Given the description of an element on the screen output the (x, y) to click on. 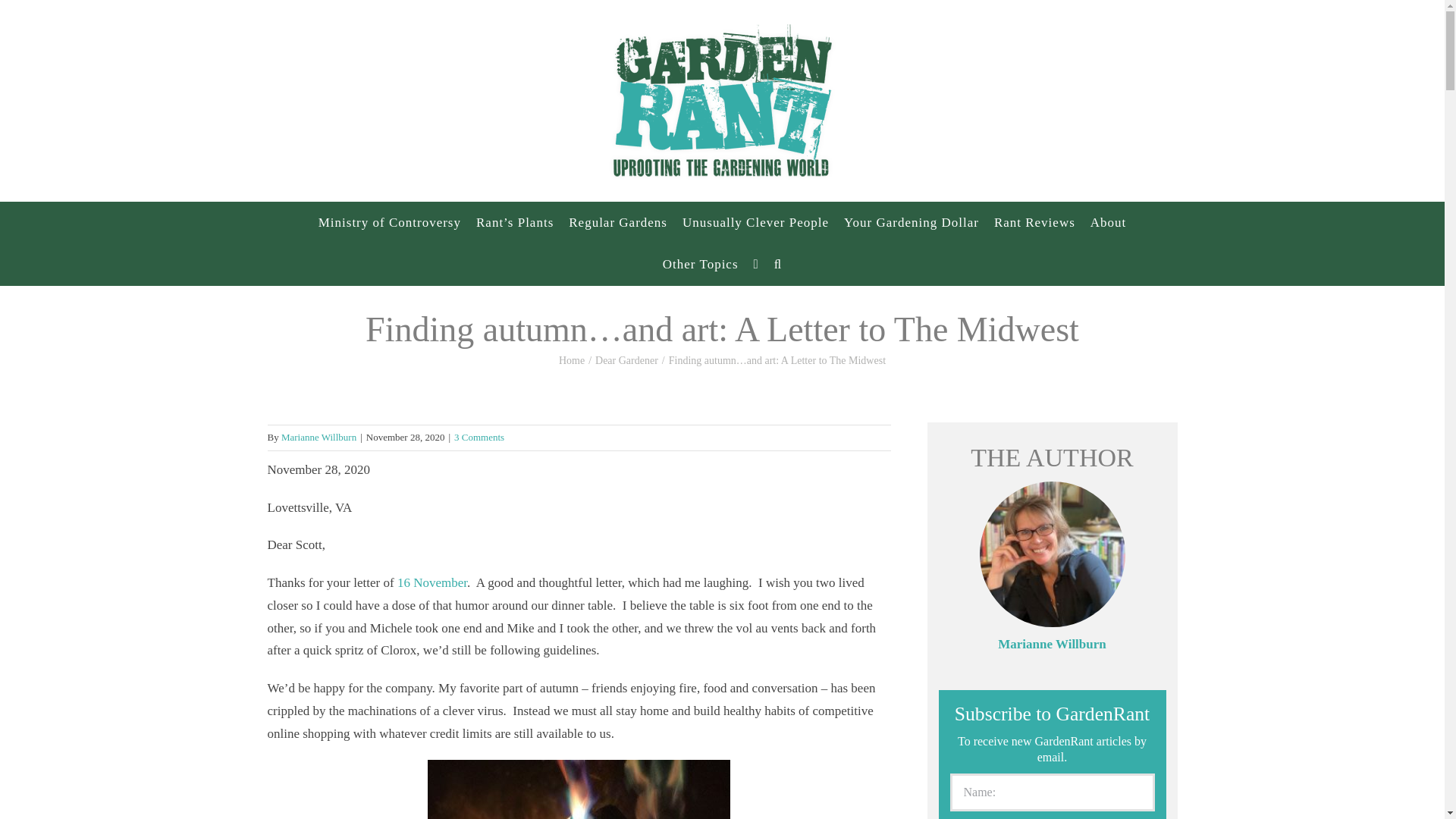
Home (572, 360)
Your Gardening Dollar (911, 222)
Dear Gardener (626, 360)
Other Topics (700, 264)
Posts by Marianne Willburn (318, 437)
Ministry of Controversy (389, 222)
About (1108, 222)
Regular Gardens (617, 222)
Rant Reviews (1035, 222)
Unusually Clever People (755, 222)
